Given the description of an element on the screen output the (x, y) to click on. 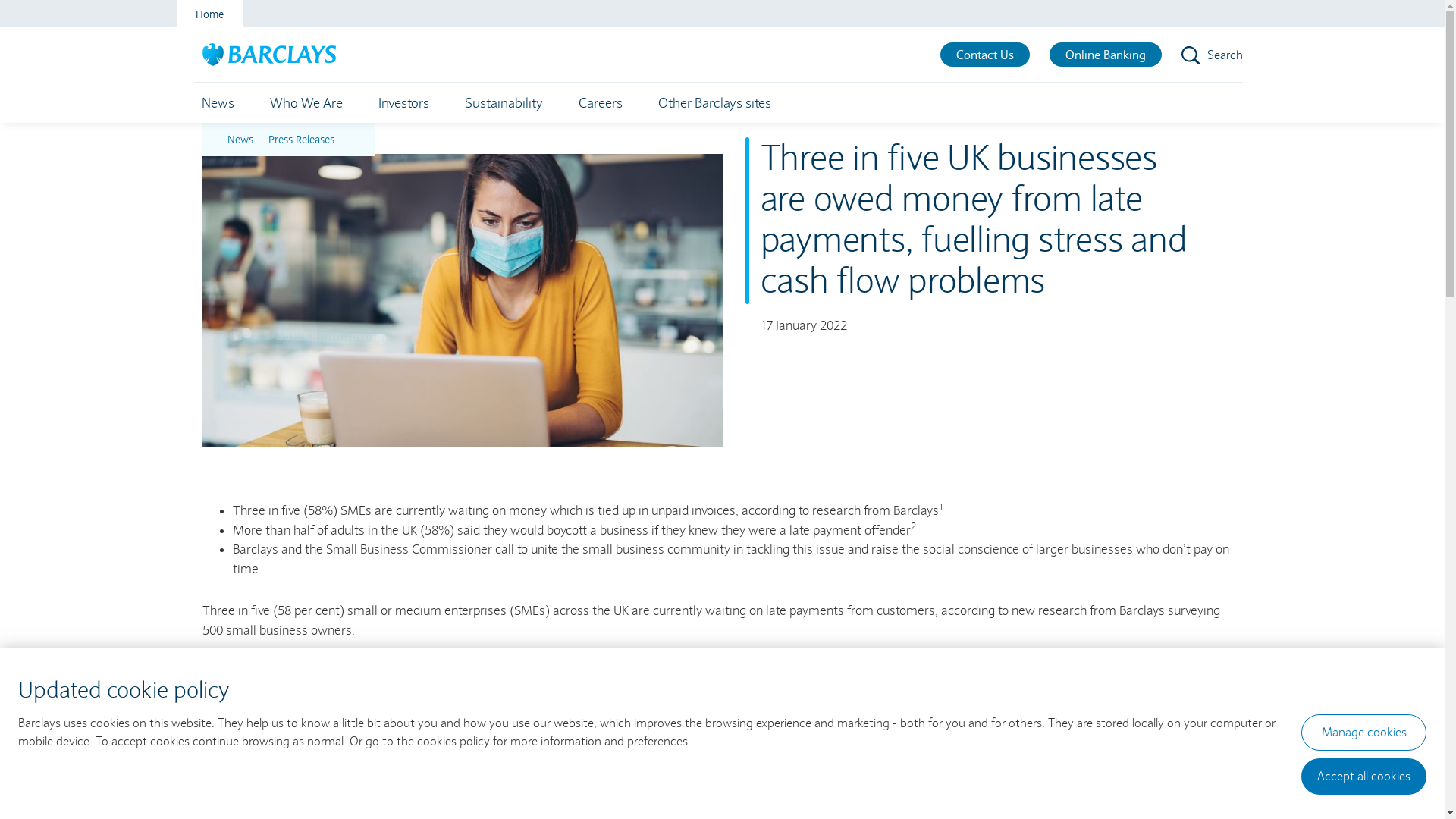
Investors Element type: text (403, 102)
Search Element type: text (1211, 54)
Home Element type: text (208, 14)
Press Releases Element type: text (301, 138)
Online Banking Element type: text (1105, 54)
News Element type: text (217, 102)
News Element type: text (240, 138)
Sustainability Element type: text (502, 102)
Contact Us Element type: text (984, 54)
Who We Are Element type: text (306, 102)
Other Barclays sites Element type: text (714, 102)
Careers Element type: text (599, 102)
